Given the description of an element on the screen output the (x, y) to click on. 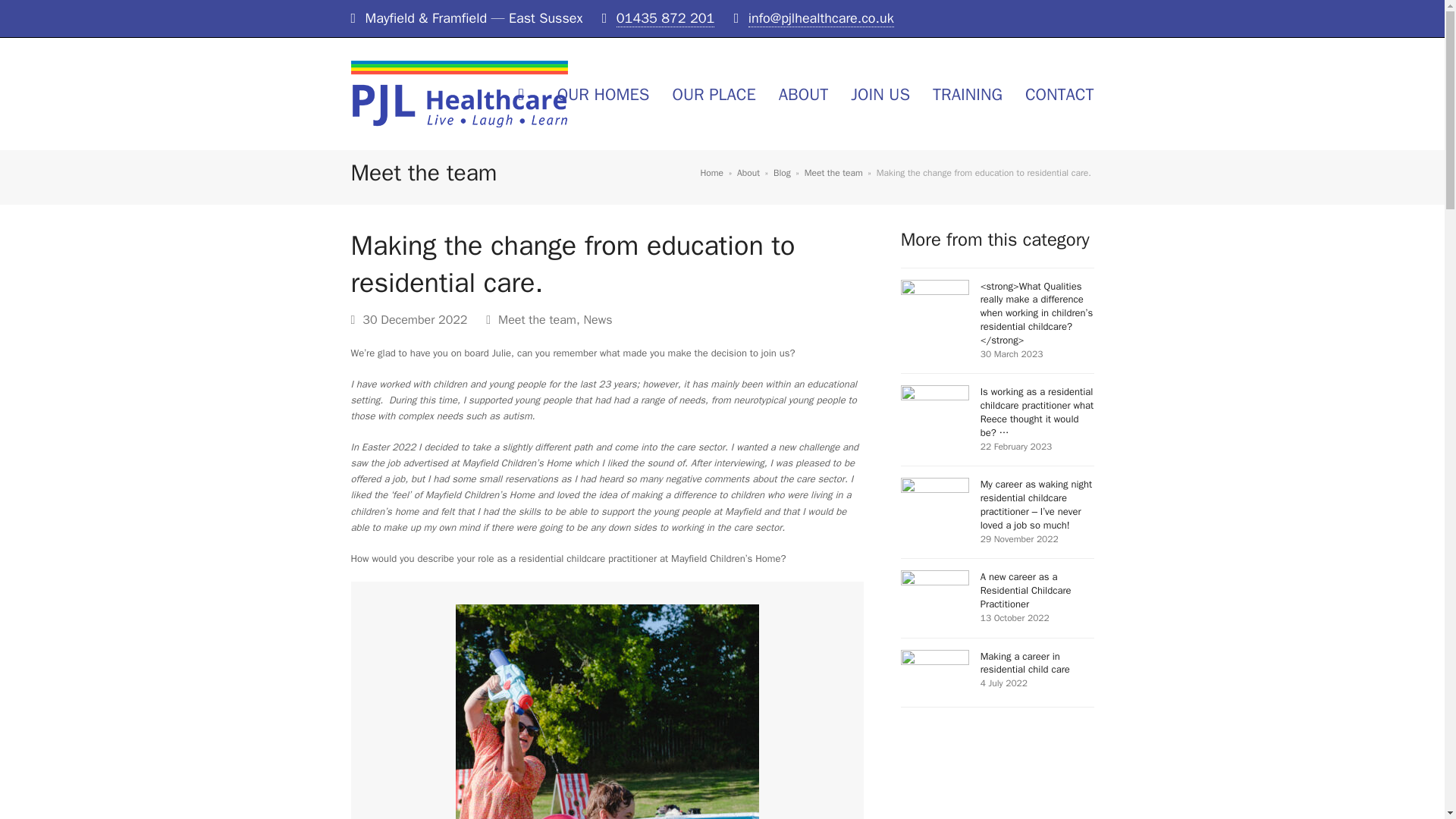
CONTACT (1059, 94)
Home (711, 173)
OUR HOMES (603, 94)
ABOUT (803, 94)
TRAINING (967, 94)
Meet the team (834, 173)
Blog (781, 173)
JOIN US (880, 94)
OUR PLACE (714, 94)
About (748, 173)
